Given the description of an element on the screen output the (x, y) to click on. 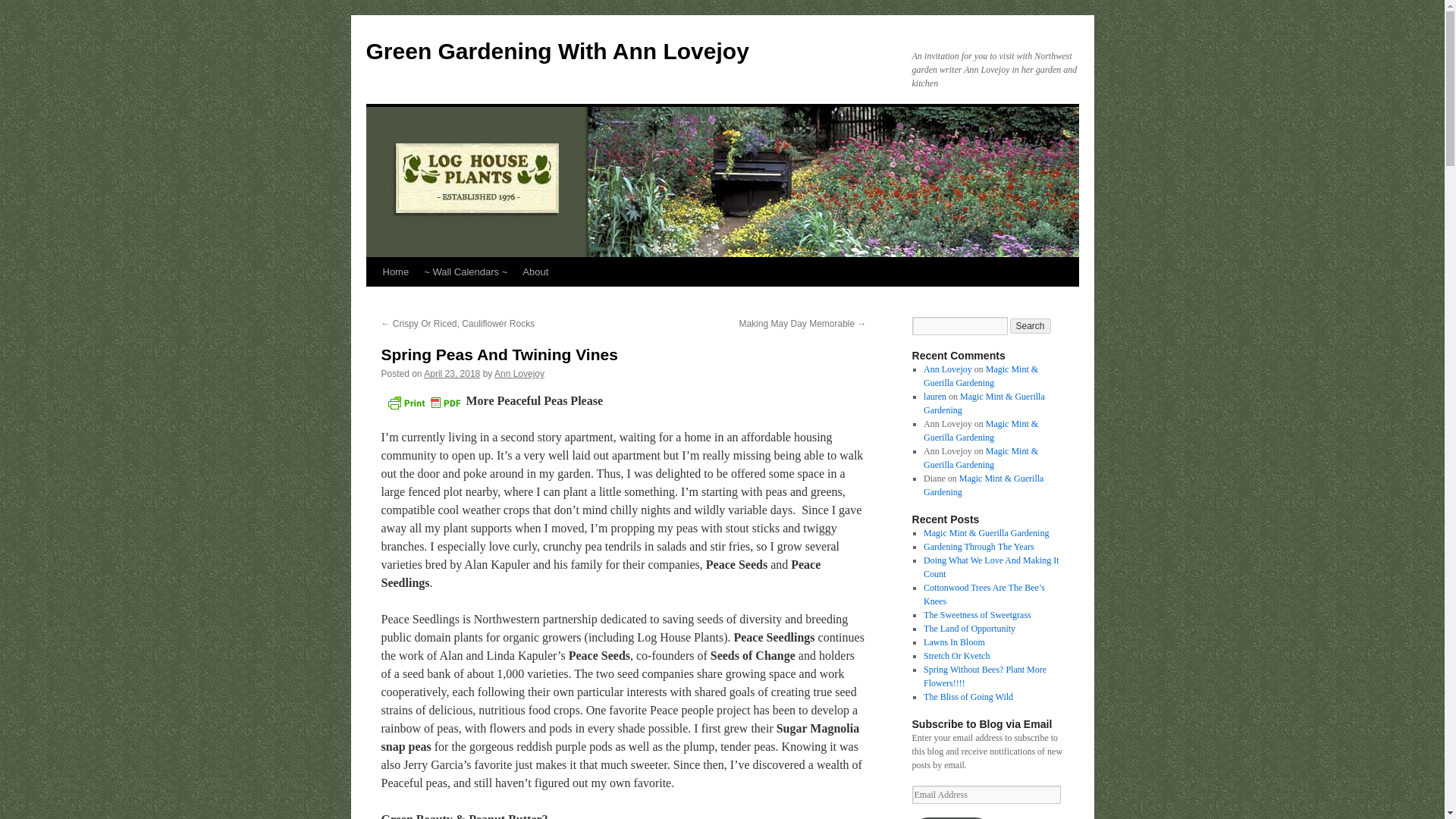
About (535, 271)
Ann Lovejoy (519, 373)
View all posts by Ann Lovejoy (519, 373)
April 23, 2018 (451, 373)
Search (1030, 325)
12:06 pm (451, 373)
Home (395, 271)
Green Gardening With Ann Lovejoy (556, 50)
